Given the description of an element on the screen output the (x, y) to click on. 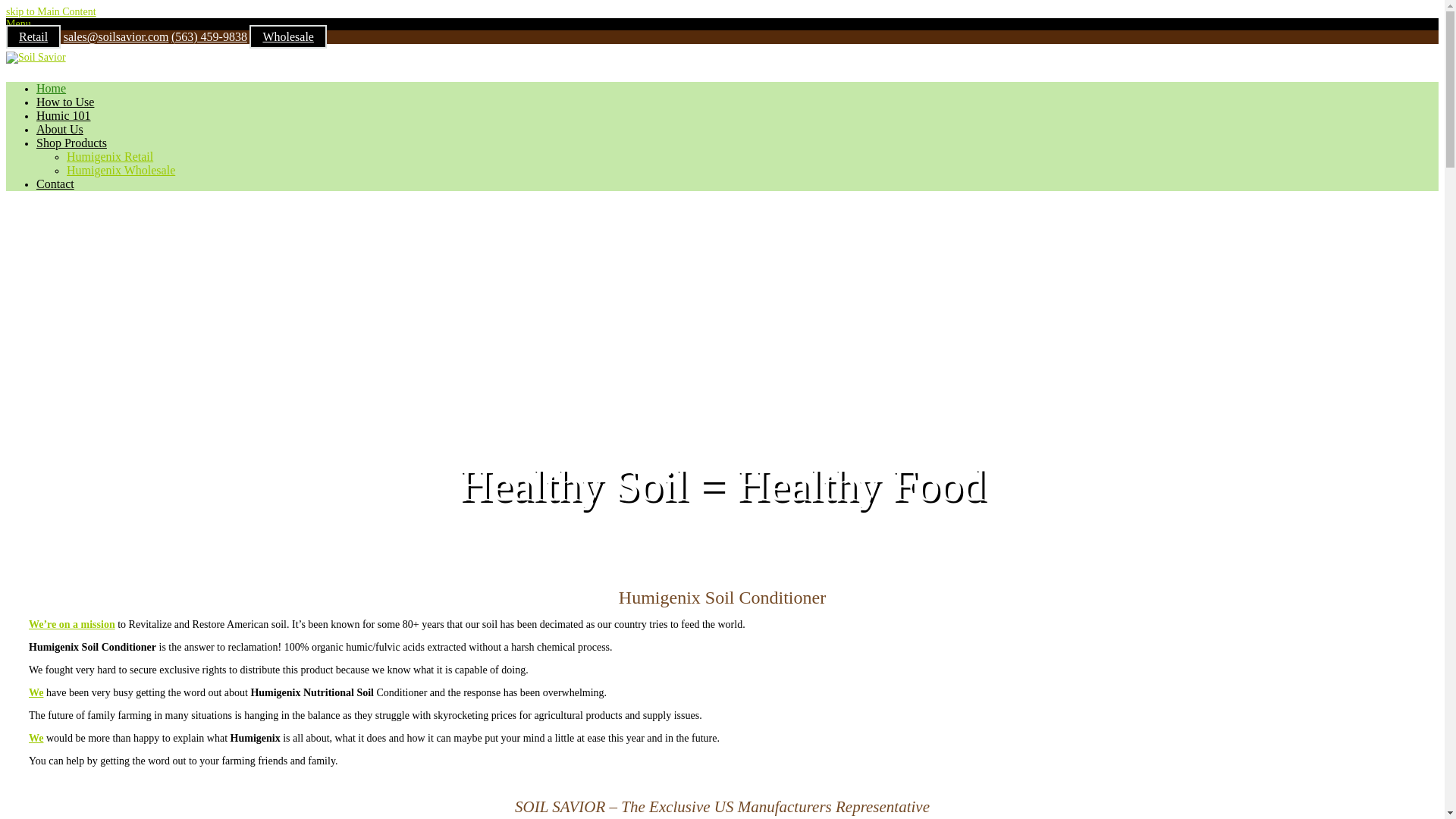
About Us (59, 129)
We (36, 737)
Retail (33, 36)
Contact (55, 184)
Humic 101 (63, 116)
Humigenix Wholesale (120, 170)
Humigenix Retail (109, 156)
Wholesale (287, 36)
Home (50, 89)
We (36, 692)
Shop Products (71, 143)
Menu (17, 23)
skip to Main Content (50, 11)
How to Use (65, 102)
